Given the description of an element on the screen output the (x, y) to click on. 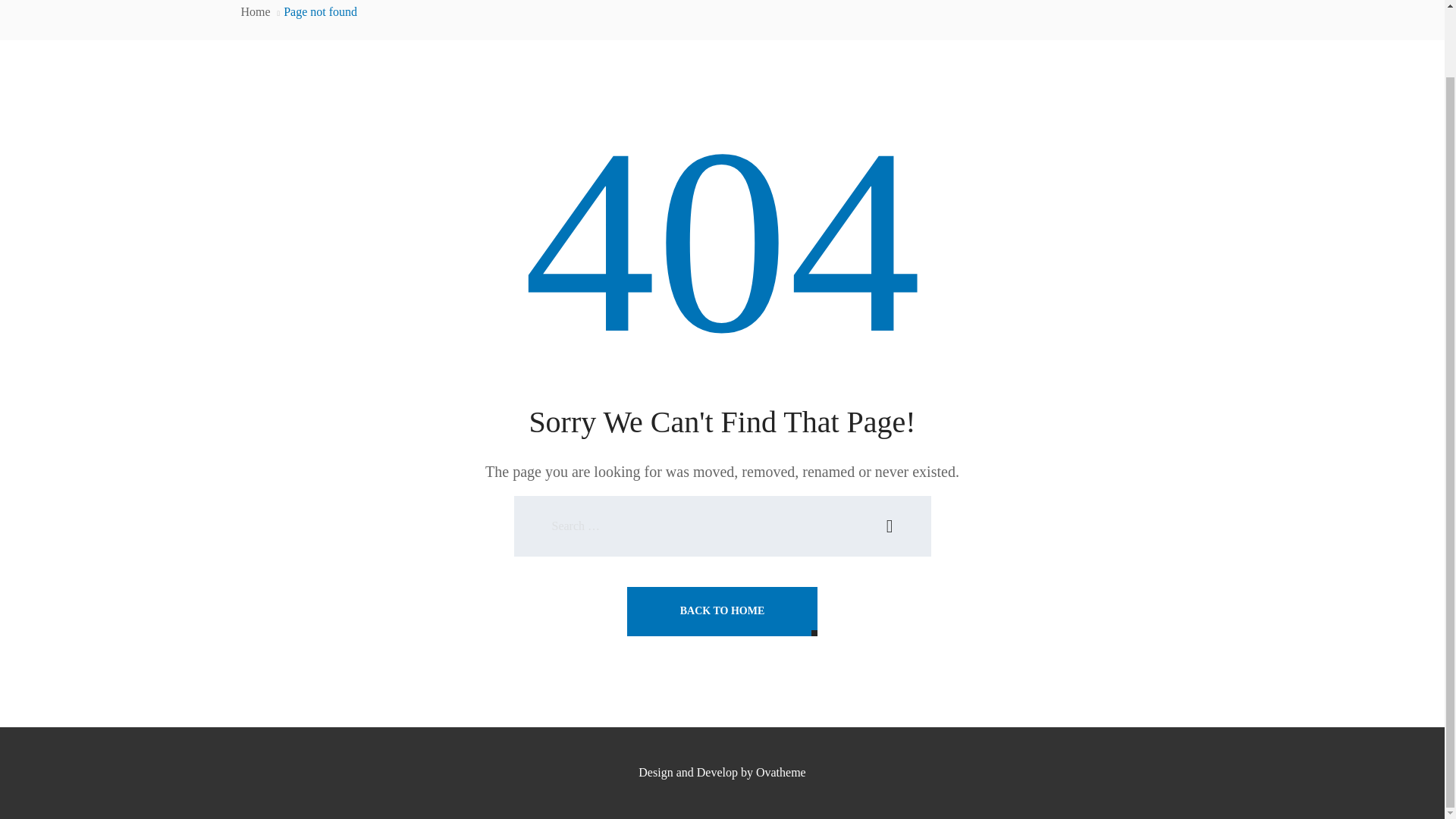
Search (889, 526)
Home (255, 11)
Search (889, 526)
Home (255, 11)
Search (889, 526)
BACK TO HOME (722, 611)
